Given the description of an element on the screen output the (x, y) to click on. 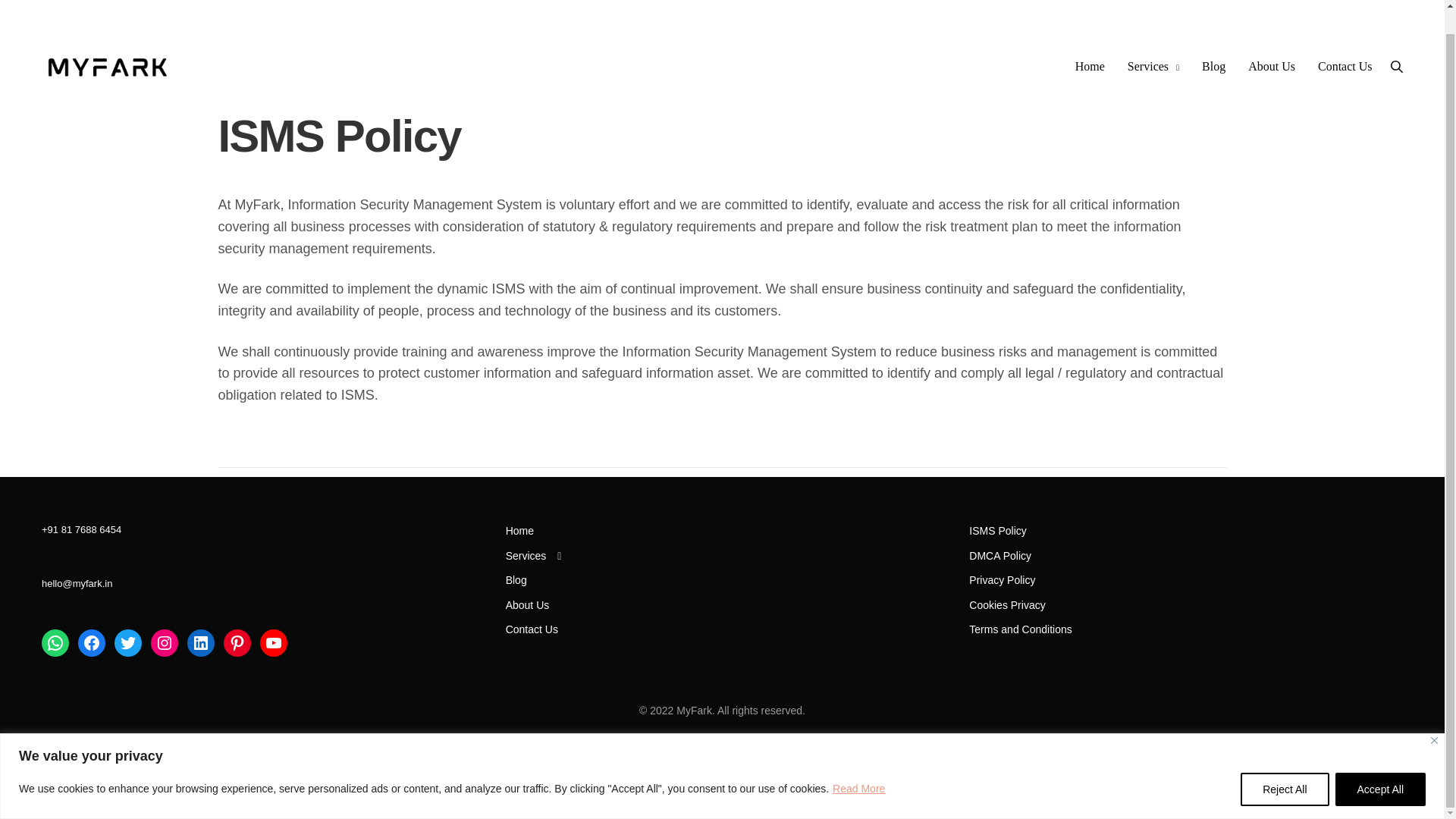
Services (533, 555)
Reject All (1283, 764)
About Us (1271, 42)
Read More (858, 764)
Services (1152, 42)
Blog (1213, 42)
Contact Us (1345, 42)
Accept All (1380, 764)
Home (1090, 42)
Home (519, 530)
MyFark (107, 42)
